Given the description of an element on the screen output the (x, y) to click on. 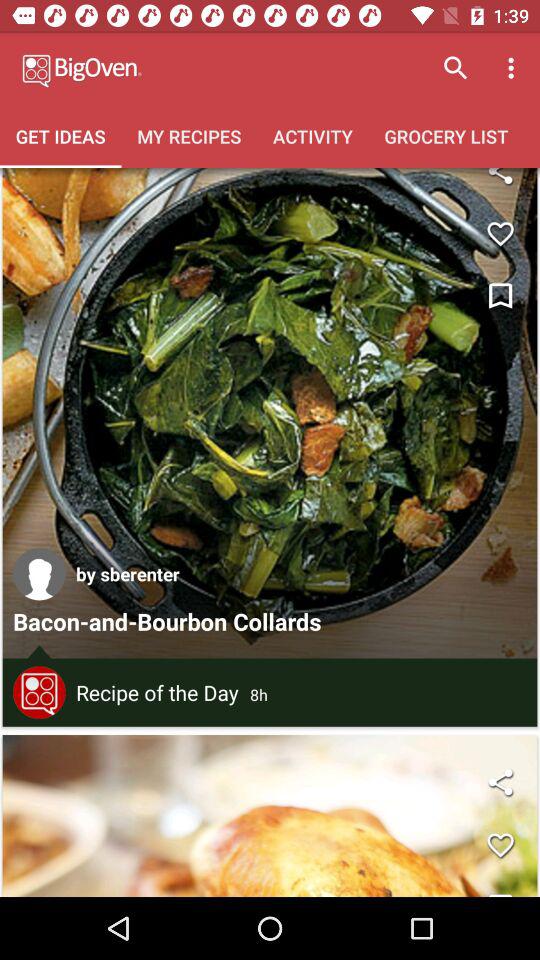
love reaction (500, 233)
